Given the description of an element on the screen output the (x, y) to click on. 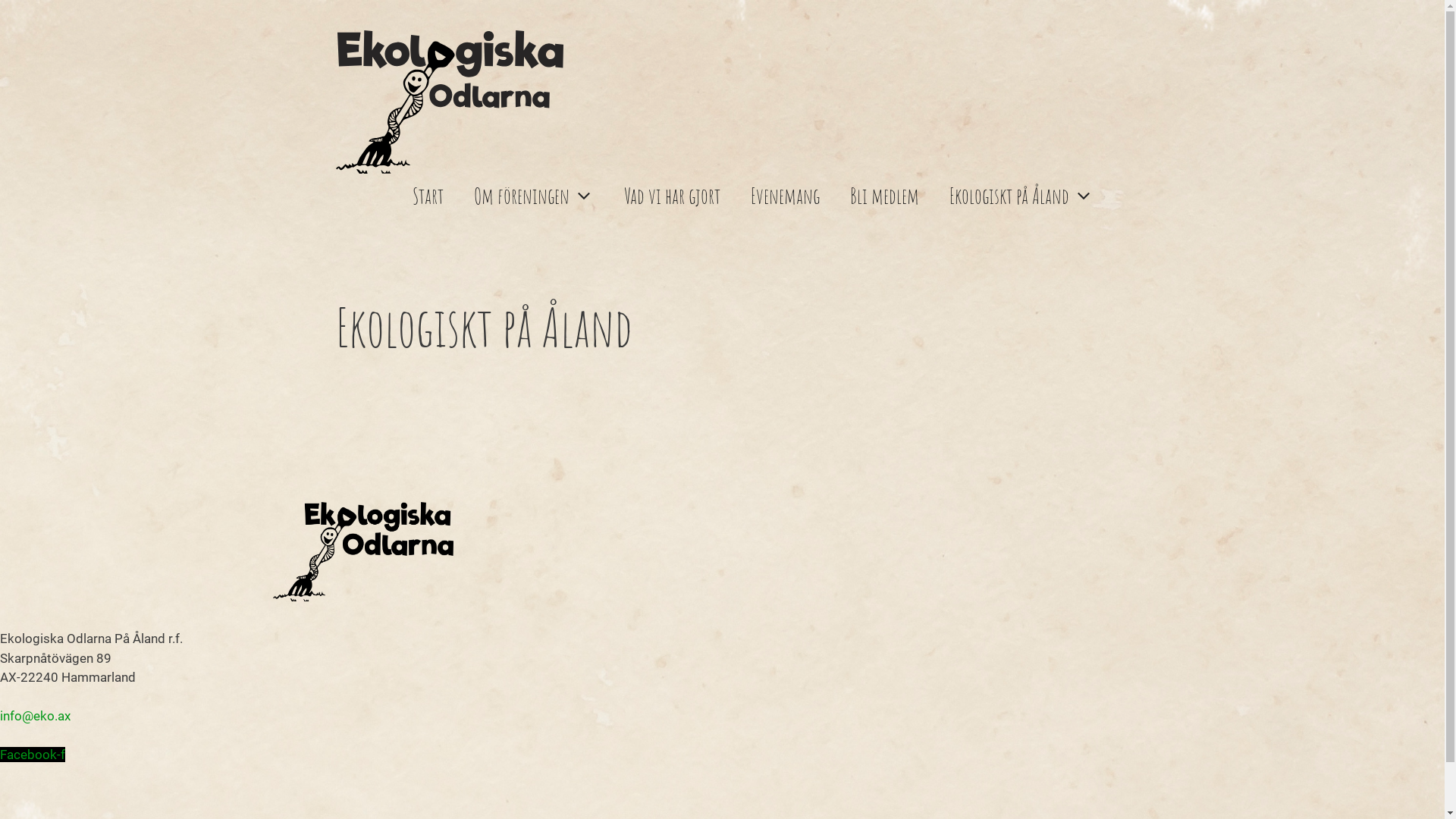
Vad vi har gjort Element type: text (671, 196)
Evenemang Element type: text (784, 196)
Start Element type: text (427, 196)
info@eko.ax Element type: text (35, 715)
Facebook-f Element type: text (32, 754)
Bli medlem Element type: text (884, 196)
